Given the description of an element on the screen output the (x, y) to click on. 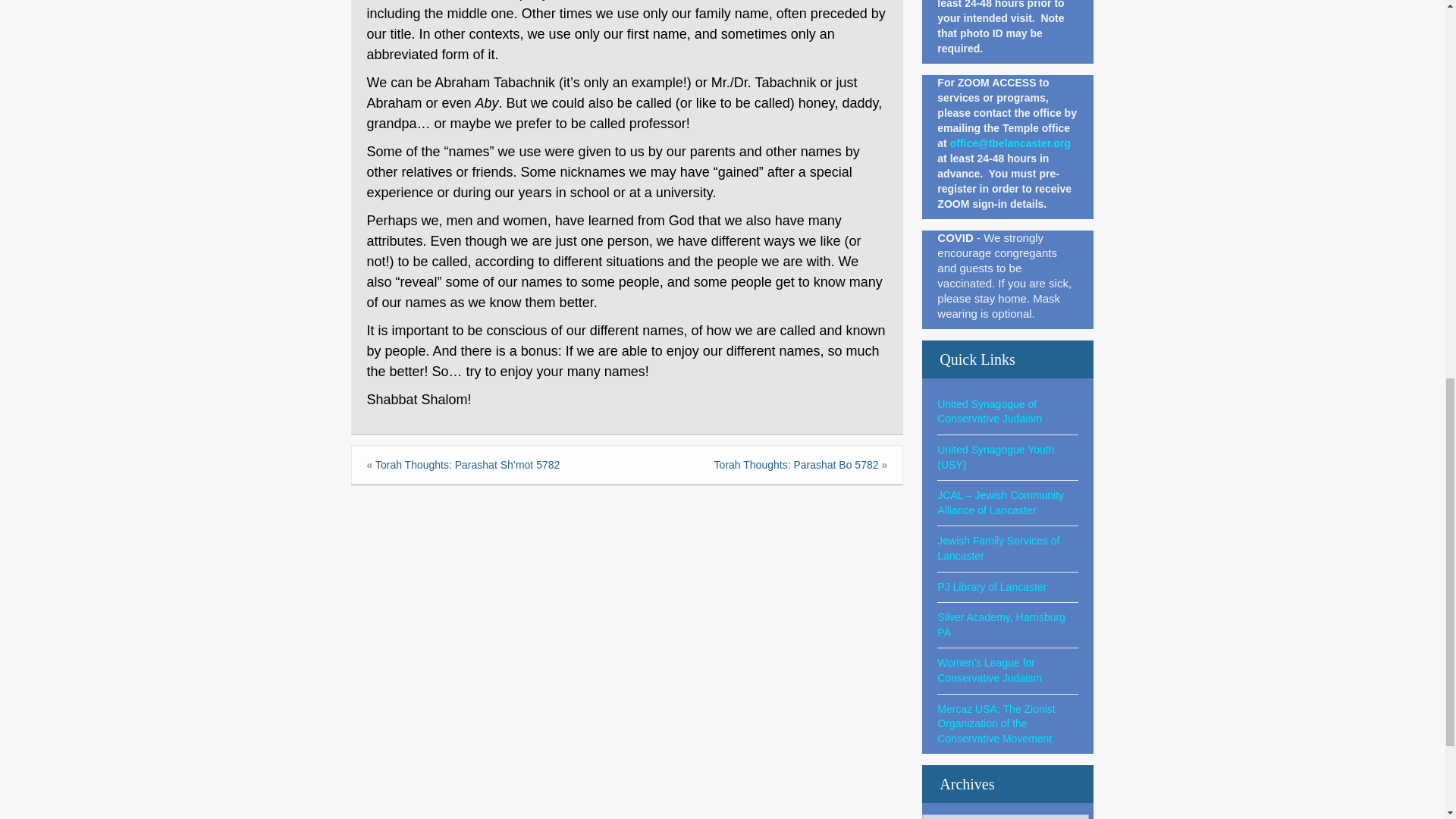
Jewish Family Services of Lancaster (998, 547)
Torah Thoughts: Parashat Bo 5782 (796, 464)
PJ Library of Lancaster (991, 586)
Silver Academy, Harrisburg PA (1001, 624)
United Synagogue of Conservative Judaism (989, 411)
